Given the description of an element on the screen output the (x, y) to click on. 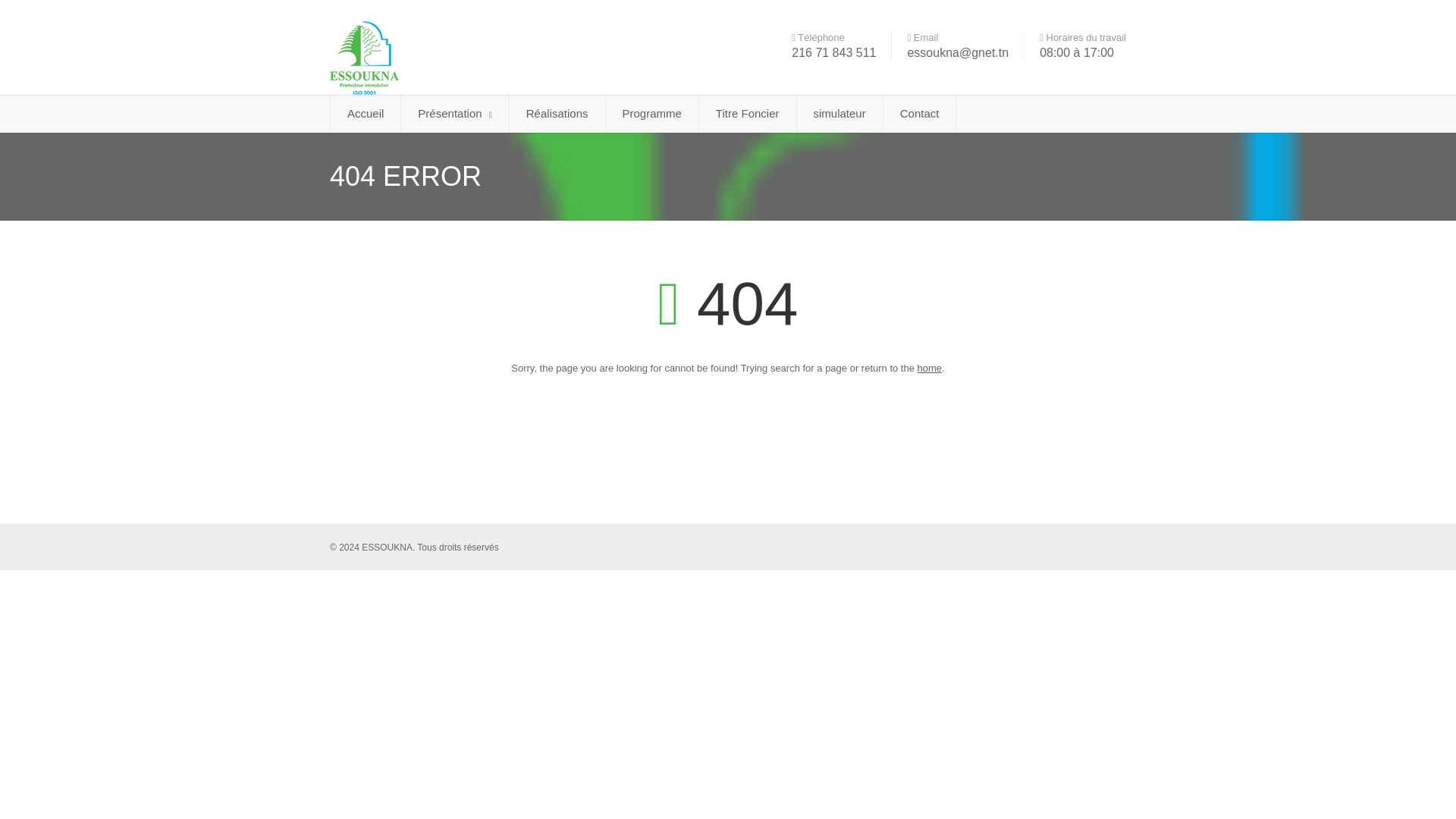
Accueil (365, 113)
Titre Foncier (747, 113)
home (929, 367)
simulateur (839, 113)
Programme (651, 113)
Contact (919, 113)
ESSOUKNA (454, 56)
